Given the description of an element on the screen output the (x, y) to click on. 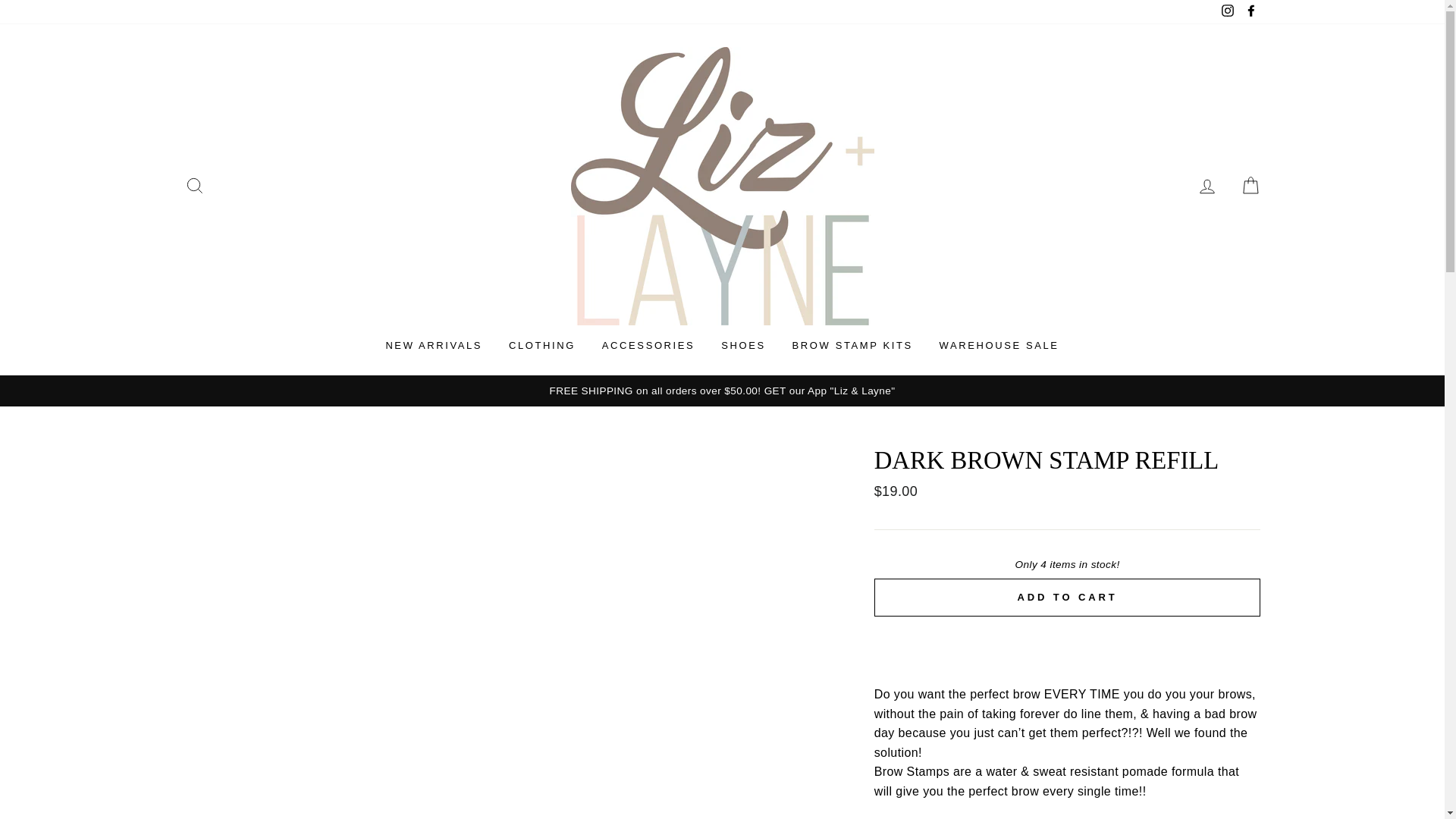
CLOTHING (541, 346)
LOG IN (1207, 185)
NEW ARRIVALS (433, 346)
CART (1249, 185)
SEARCH (194, 185)
